Given the description of an element on the screen output the (x, y) to click on. 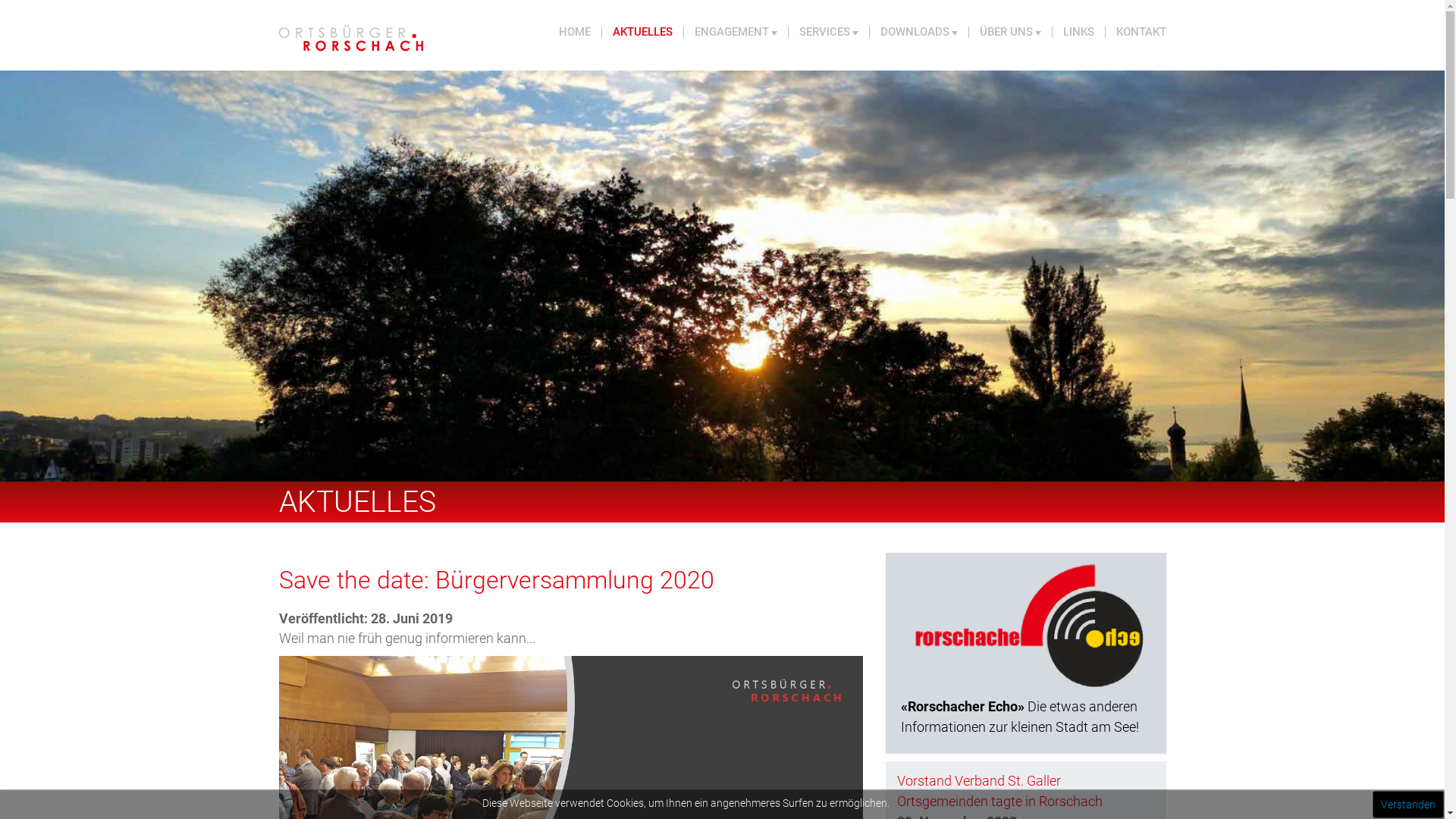
AKTUELLES Element type: text (643, 31)
HOME Element type: text (574, 31)
ENGAGEMENT Element type: text (736, 31)
Verstanden Element type: text (1407, 804)
LINKS Element type: text (1078, 31)
Vorstand Verband St. Galler Ortsgemeinden tagte in Rorschach Element type: text (998, 790)
KONTAKT Element type: text (1135, 31)
DOWNLOADS Element type: text (918, 31)
SERVICES Element type: text (828, 31)
